Given the description of an element on the screen output the (x, y) to click on. 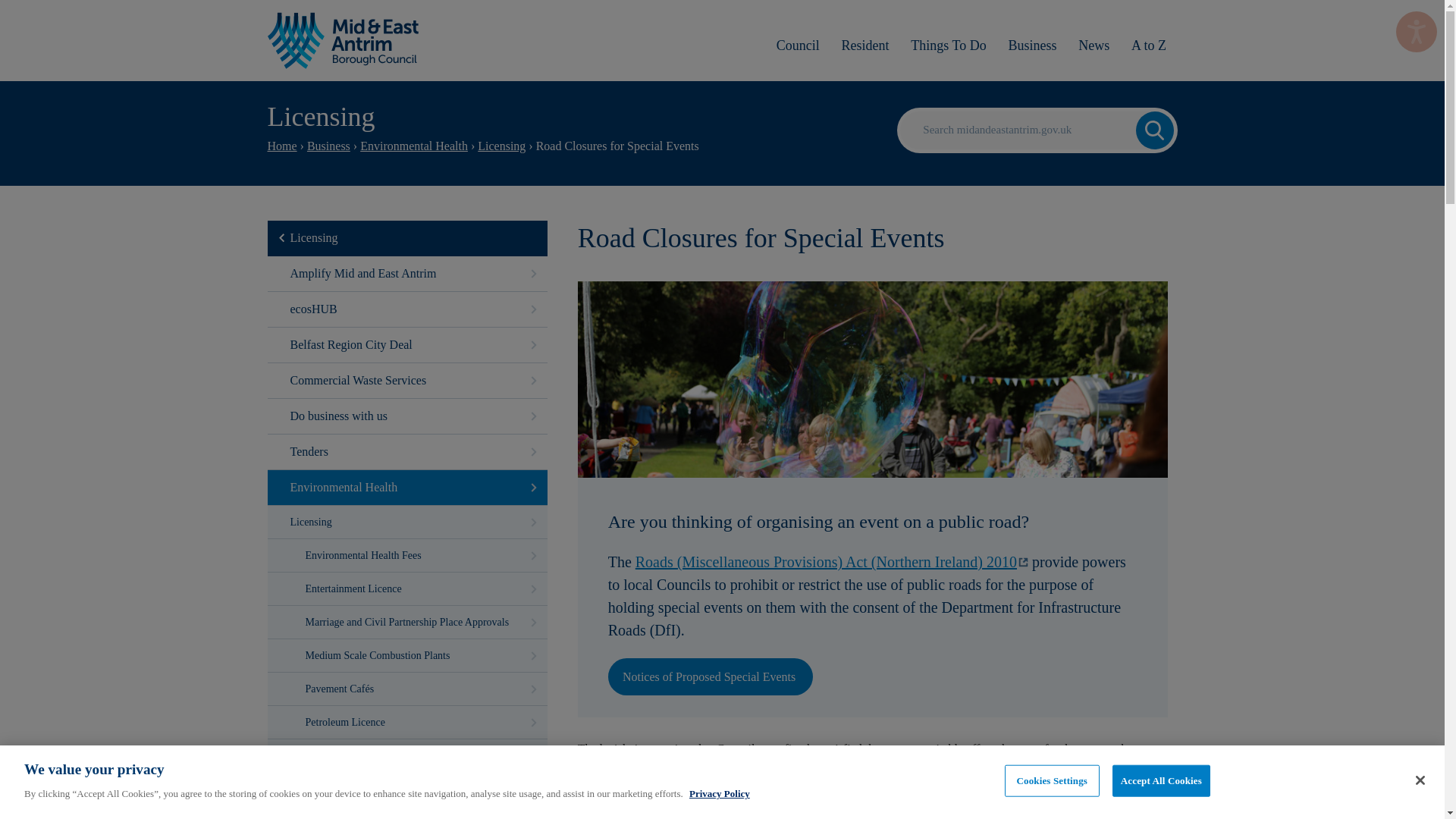
Licensing (406, 522)
A to Z (1149, 44)
ecosHUB (406, 308)
Listen with the ReachDeck Toolbar (1416, 31)
Resident (864, 44)
Home (281, 145)
Amplify Mid and East Antrim (406, 273)
Licensing (501, 145)
Commercial Waste Services (406, 380)
Environmental Health (413, 145)
Licensing (313, 237)
Entertainment Licence (406, 588)
Go to Homepage (342, 40)
Marriage and Civil Partnership Place Approvals (406, 622)
Belfast Region City Deal (406, 344)
